Given the description of an element on the screen output the (x, y) to click on. 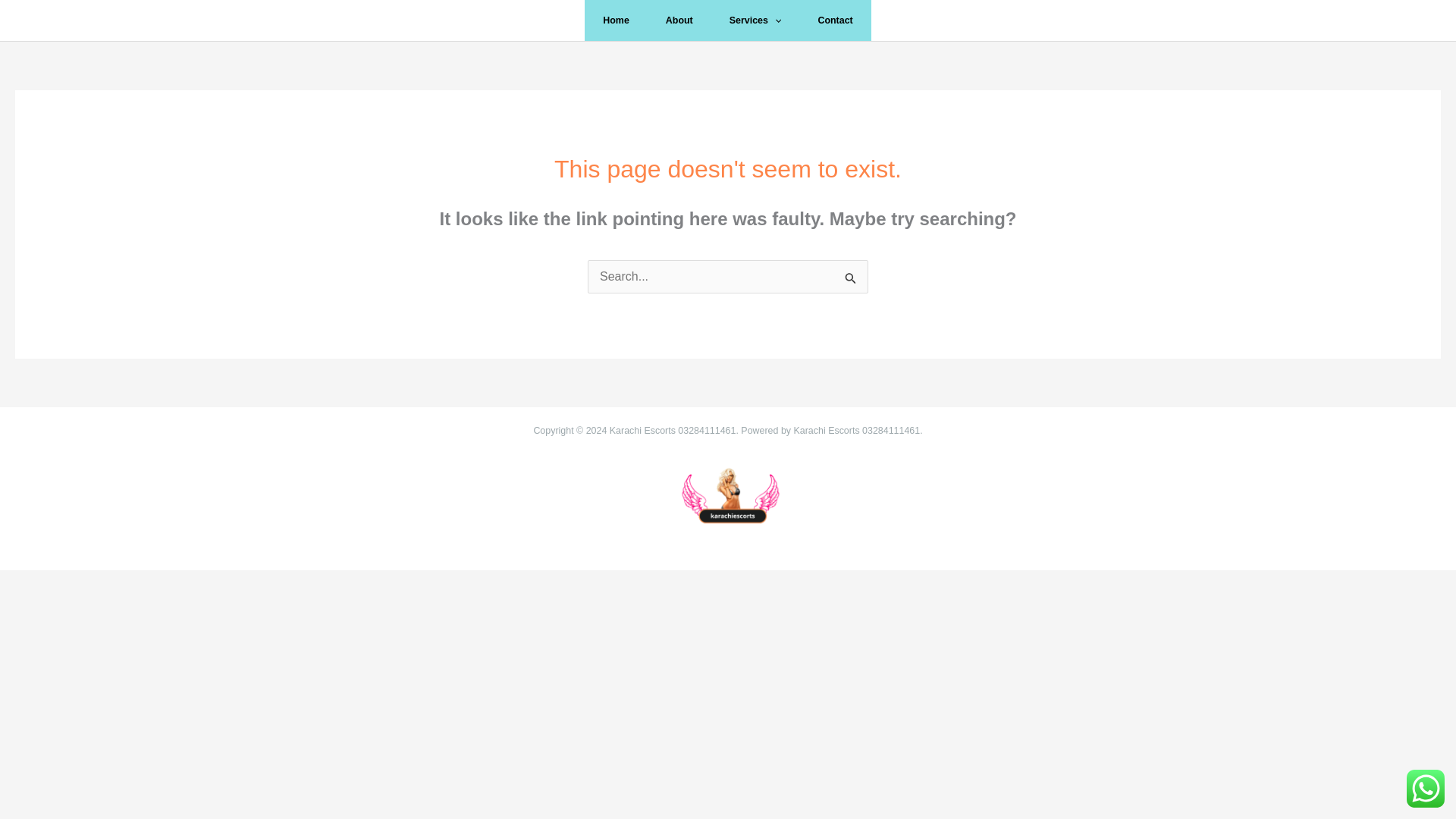
About (679, 20)
Contact (834, 20)
Home (616, 20)
Services (755, 20)
